Given the description of an element on the screen output the (x, y) to click on. 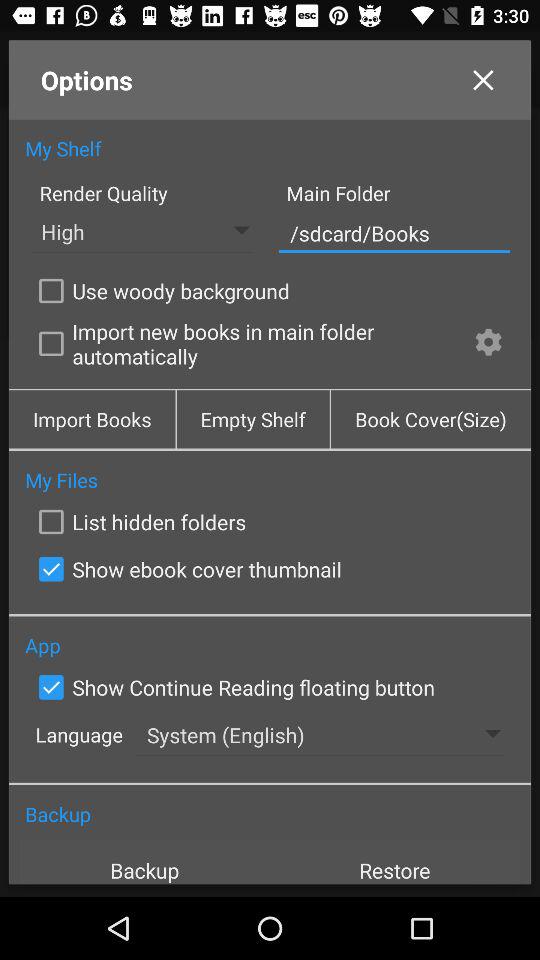
jump until /sdcard/books icon (394, 232)
